Given the description of an element on the screen output the (x, y) to click on. 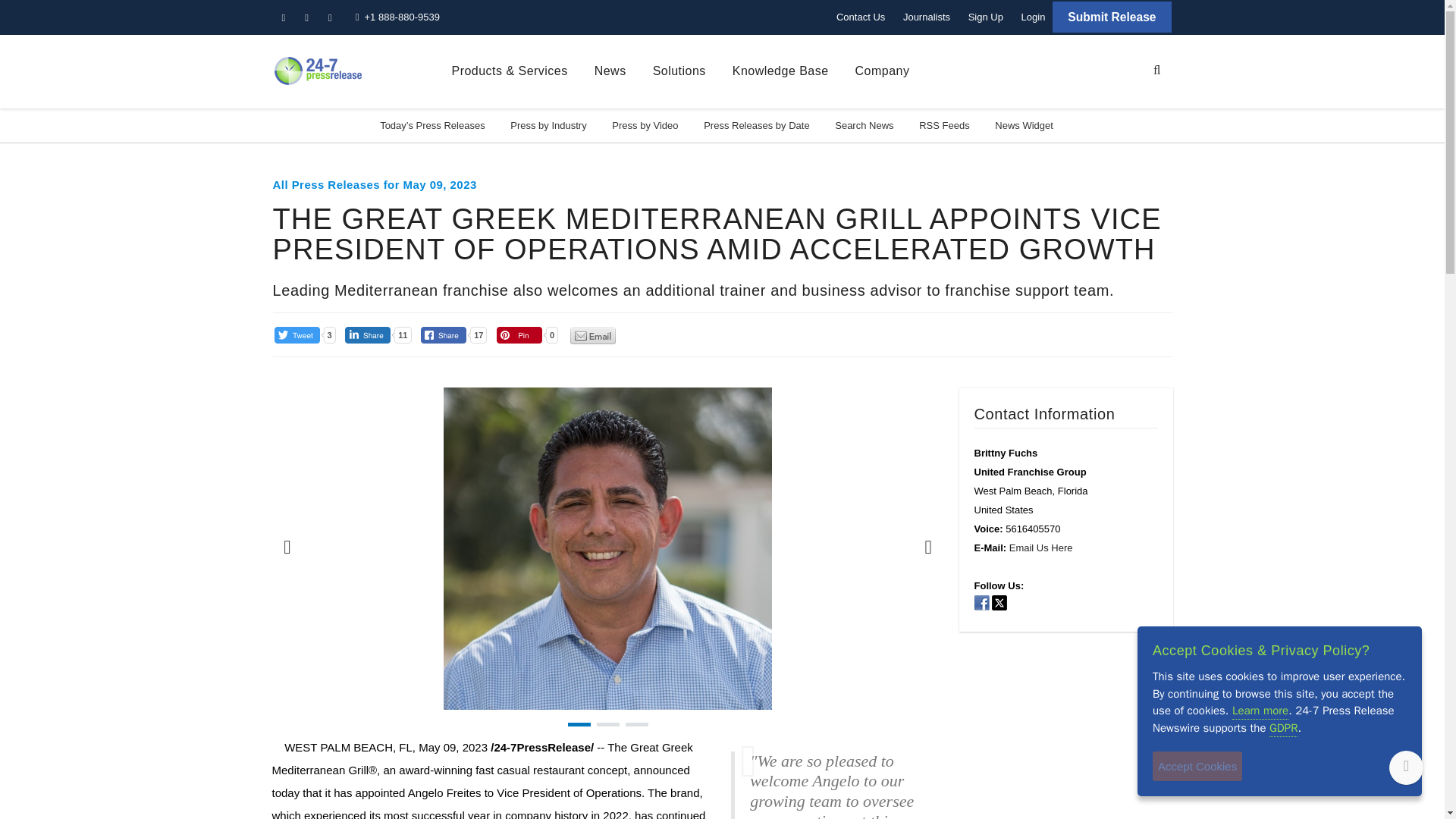
Journalists (926, 16)
Contact Us (860, 16)
Sign Up (985, 16)
Knowledge Base (780, 71)
Submit Release (1111, 16)
Login (1032, 16)
Company (882, 71)
Solutions (679, 71)
